Given the description of an element on the screen output the (x, y) to click on. 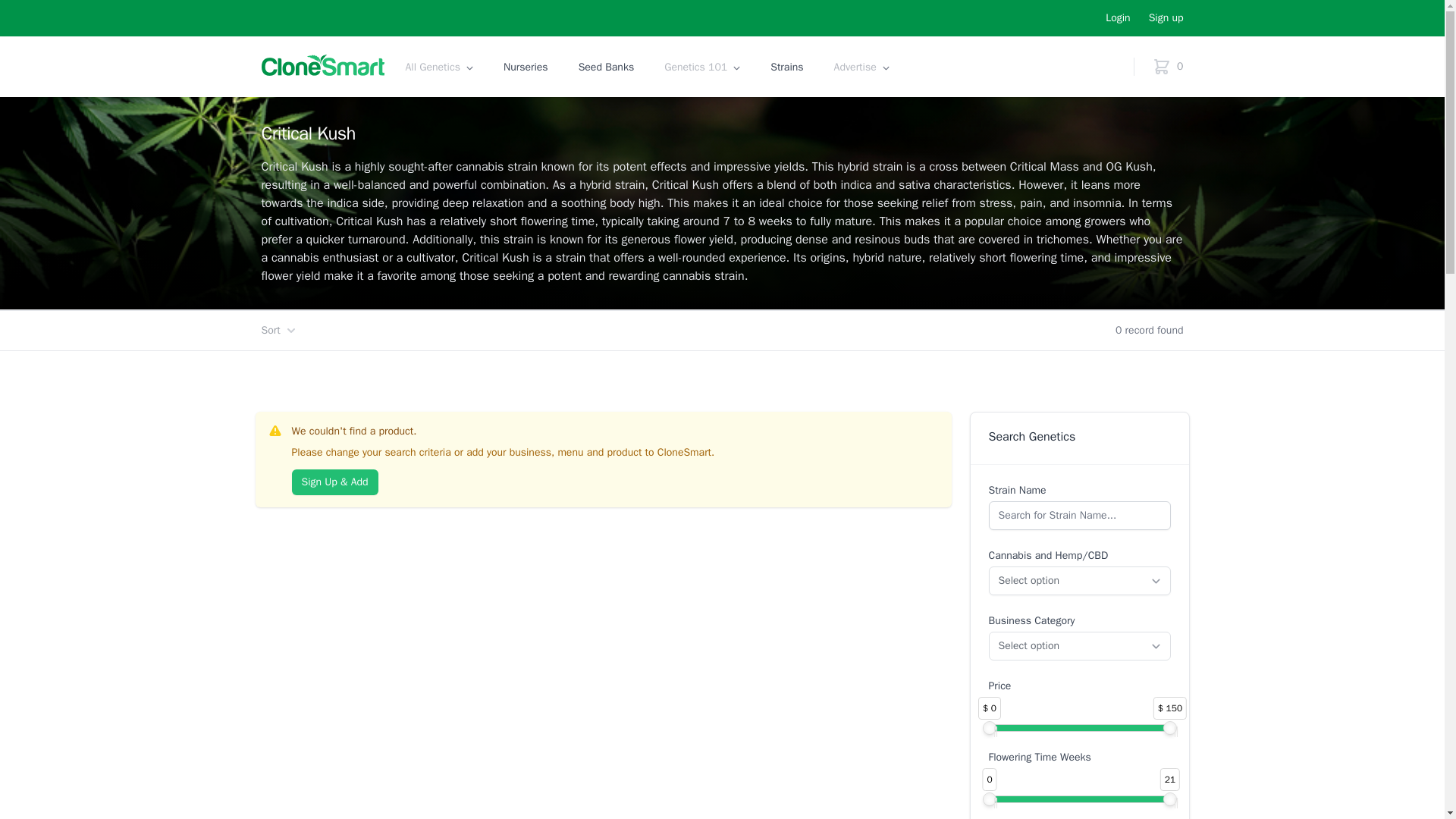
All Genetics (432, 67)
Seed Banks (606, 66)
Sign up (1165, 17)
Advertise (855, 67)
Genetics 101 (694, 67)
Login (1117, 17)
